Given the description of an element on the screen output the (x, y) to click on. 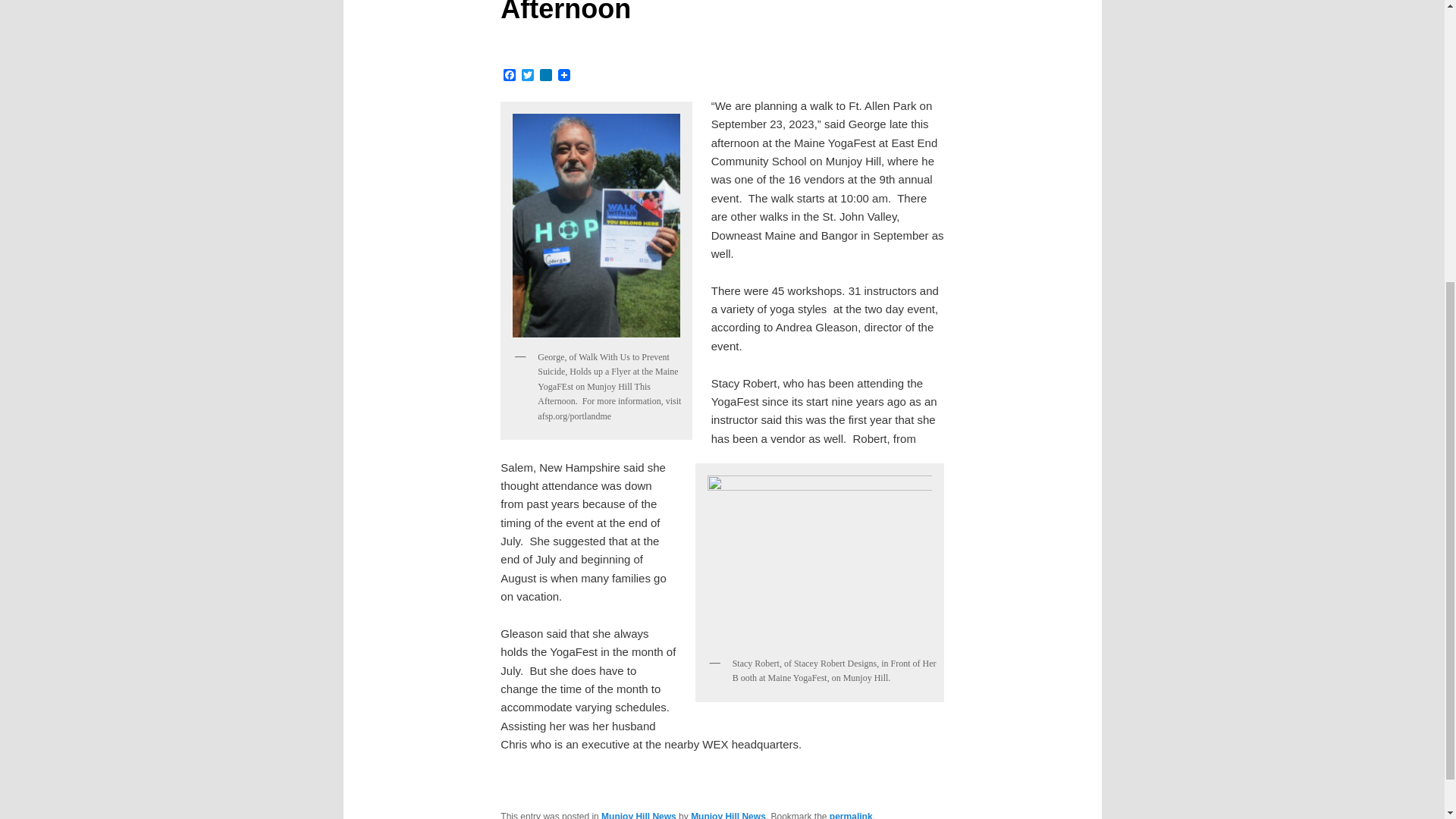
Facebook (509, 75)
LinkedIn (545, 75)
Facebook (509, 75)
Twitter (527, 75)
Twitter (527, 75)
LinkedIn (545, 75)
